Given the description of an element on the screen output the (x, y) to click on. 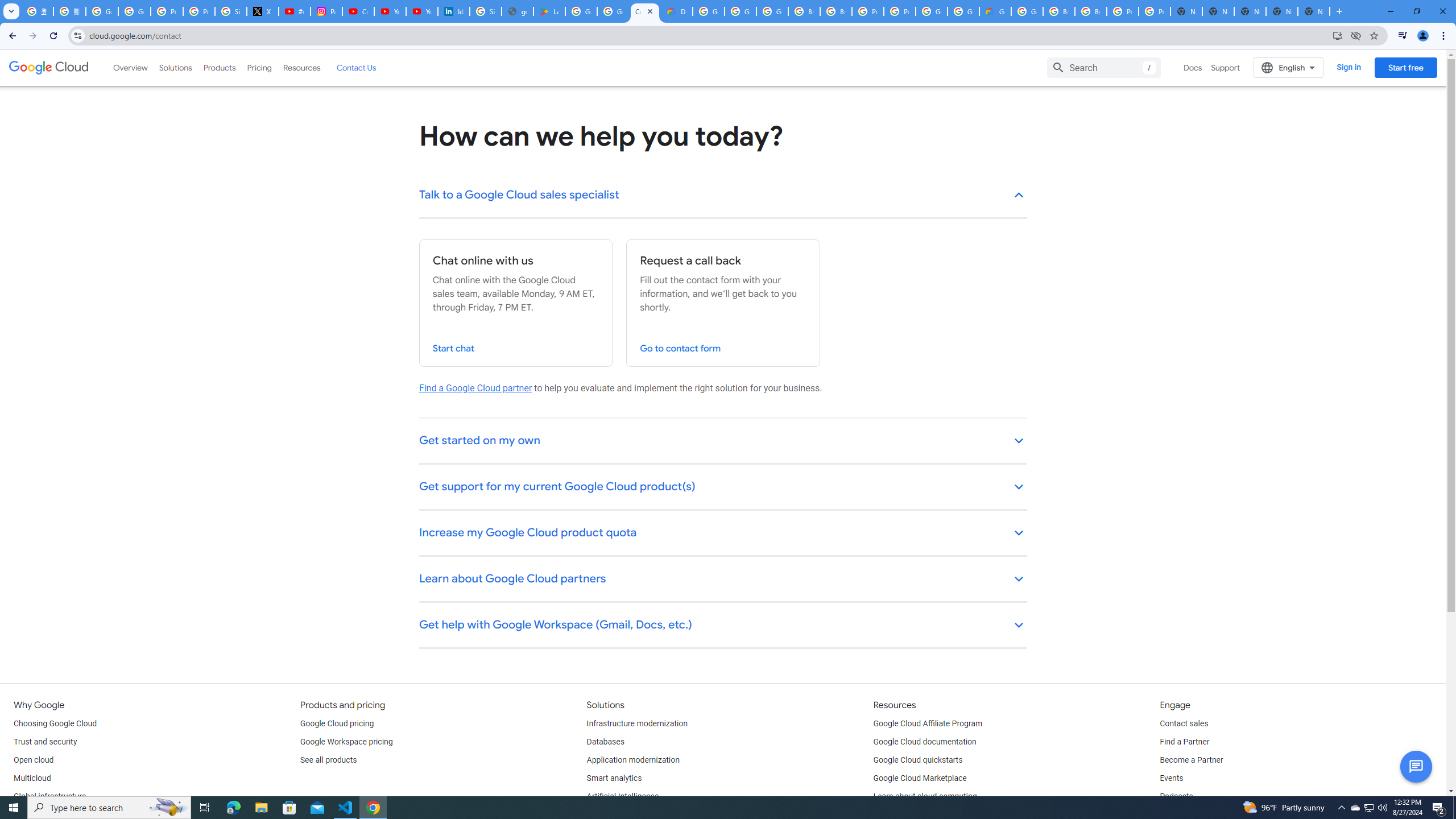
Privacy Help Center - Policies Help (198, 11)
Podcasts (1175, 796)
Google Cloud Affiliate Program (927, 723)
Forward (32, 35)
English (1288, 67)
Support (1225, 67)
google_privacy_policy_en.pdf (517, 11)
Google Cloud Platform (931, 11)
Databases (605, 742)
Events (1170, 778)
Browse Chrome as a guest - Computer - Google Chrome Help (804, 11)
Install Google Cloud (1336, 35)
